Given the description of an element on the screen output the (x, y) to click on. 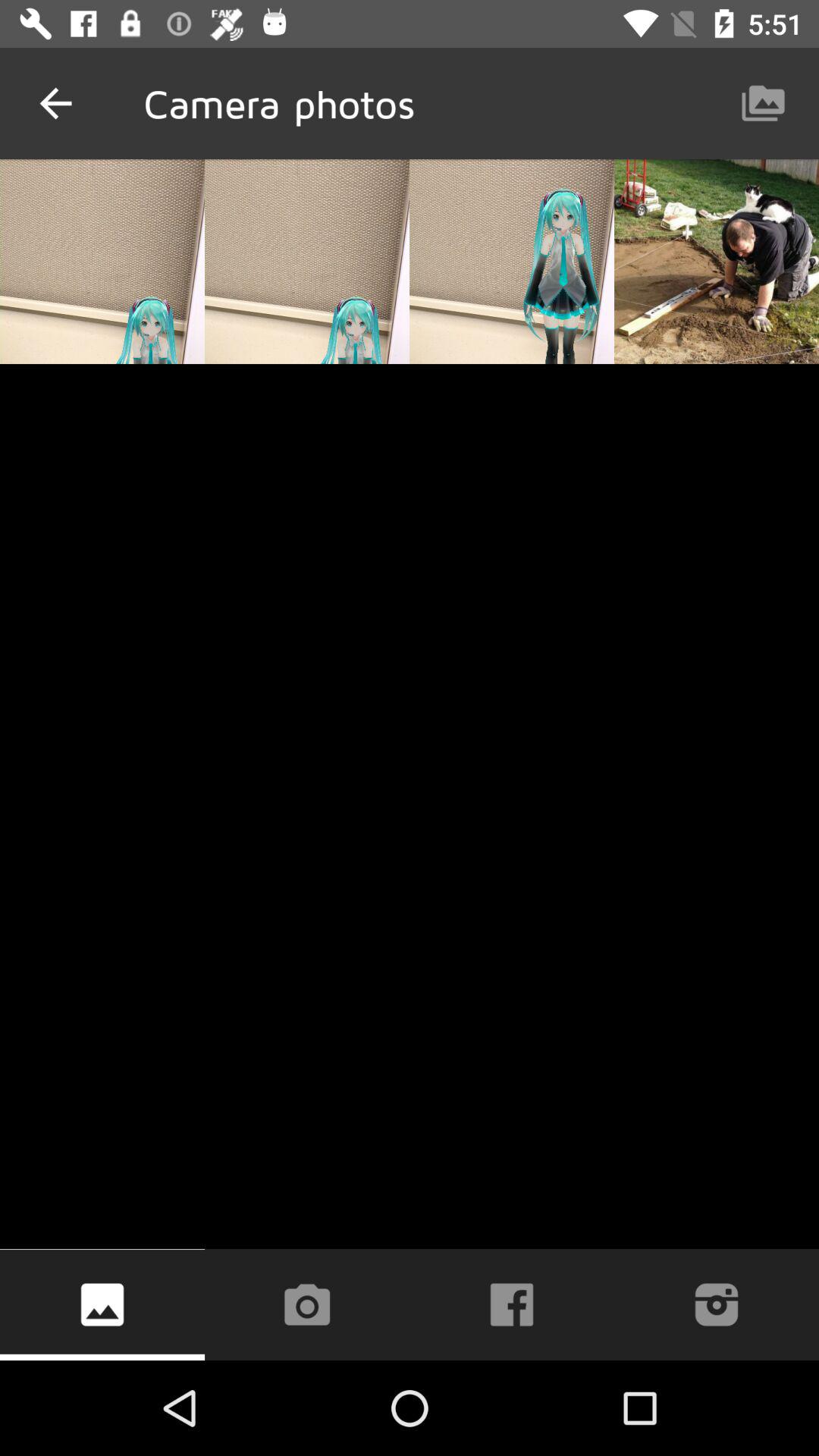
click to view snapshot (102, 1304)
